Given the description of an element on the screen output the (x, y) to click on. 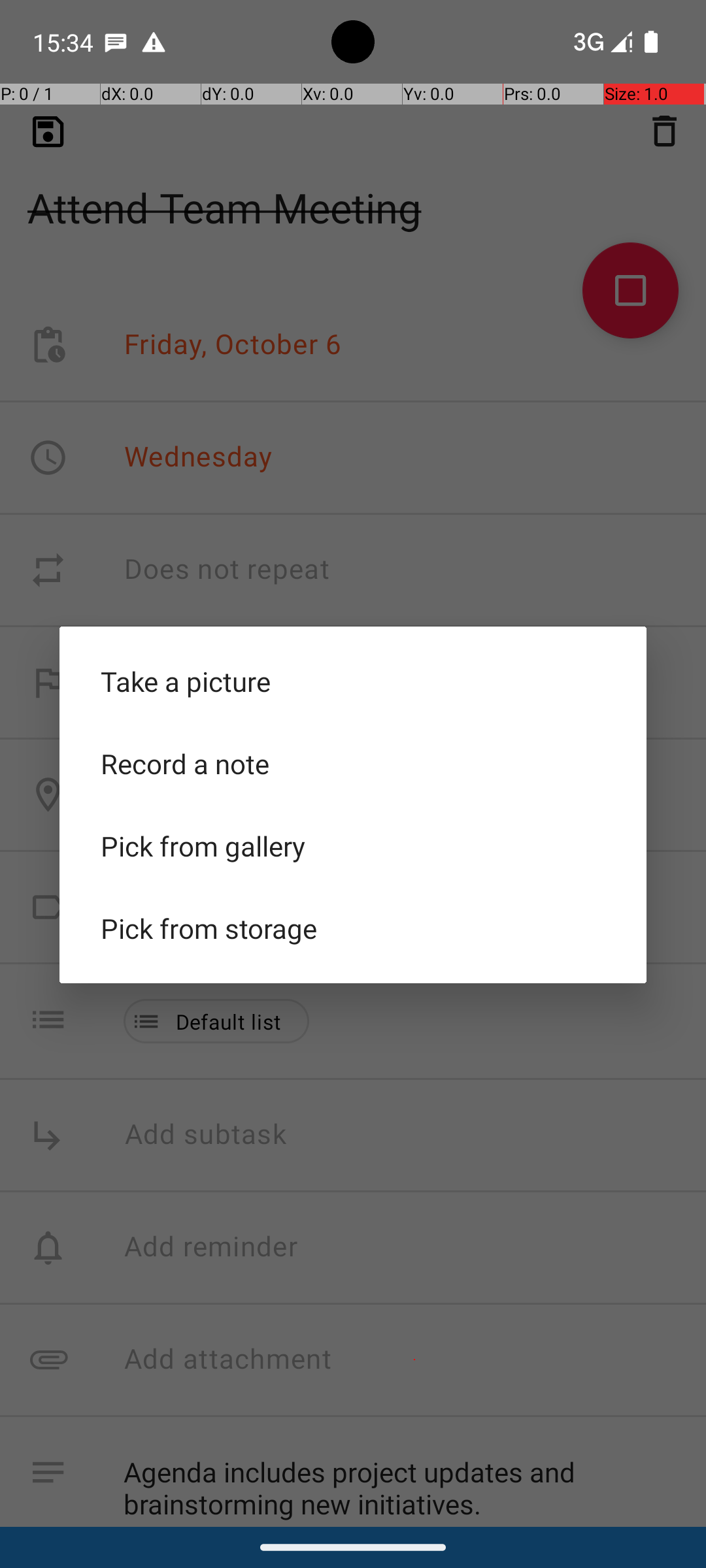
Take a picture Element type: android.widget.TextView (352, 681)
Record a note Element type: android.widget.TextView (352, 763)
Pick from gallery Element type: android.widget.TextView (352, 845)
Pick from storage Element type: android.widget.TextView (352, 928)
